Given the description of an element on the screen output the (x, y) to click on. 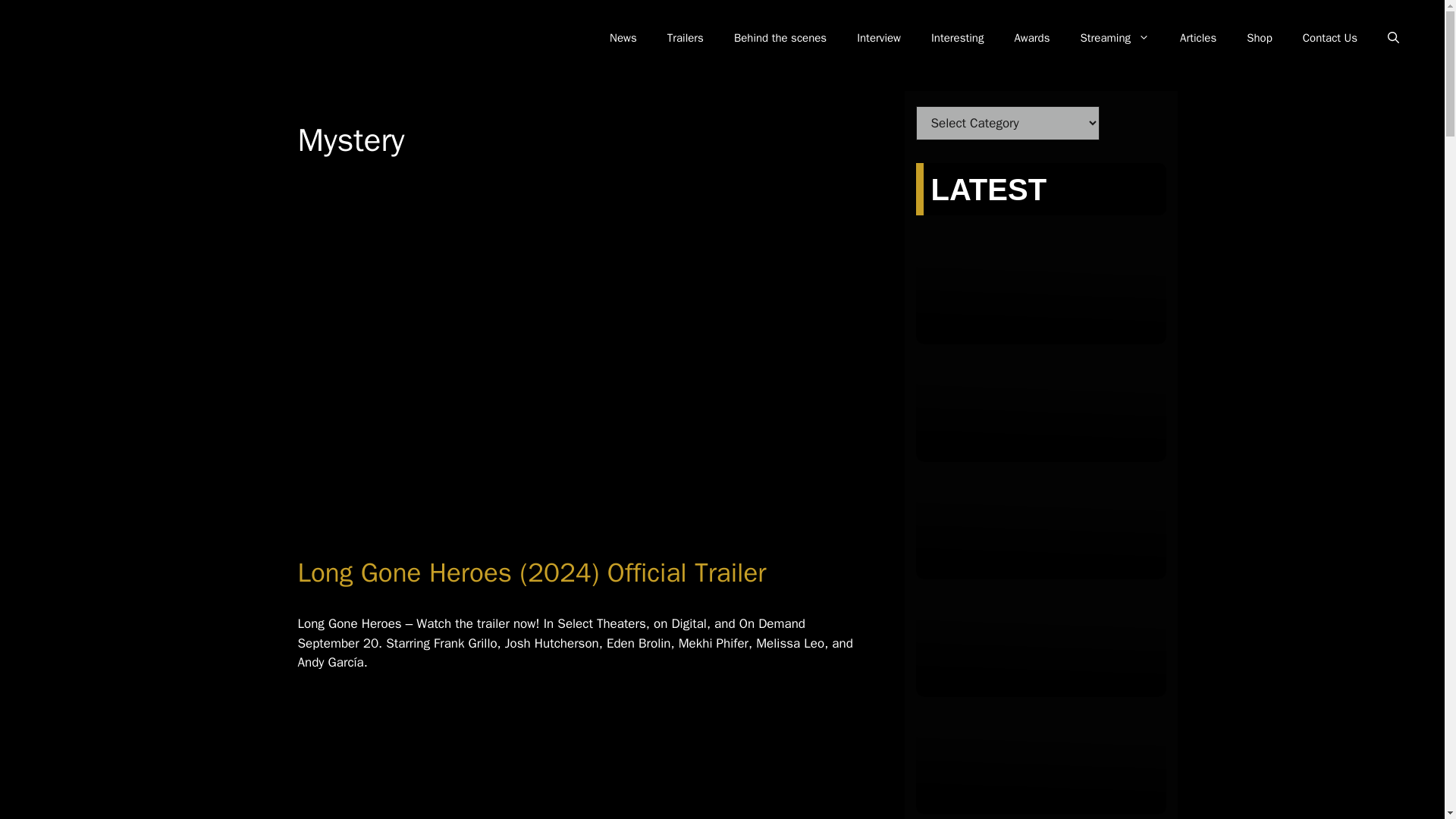
Shop (1259, 37)
Interesting (956, 37)
Streaming (1114, 37)
Contact Us (1330, 37)
News (623, 37)
Trailers (685, 37)
Awards (1031, 37)
Interview (878, 37)
Articles (1197, 37)
Behind the scenes (780, 37)
